Given the description of an element on the screen output the (x, y) to click on. 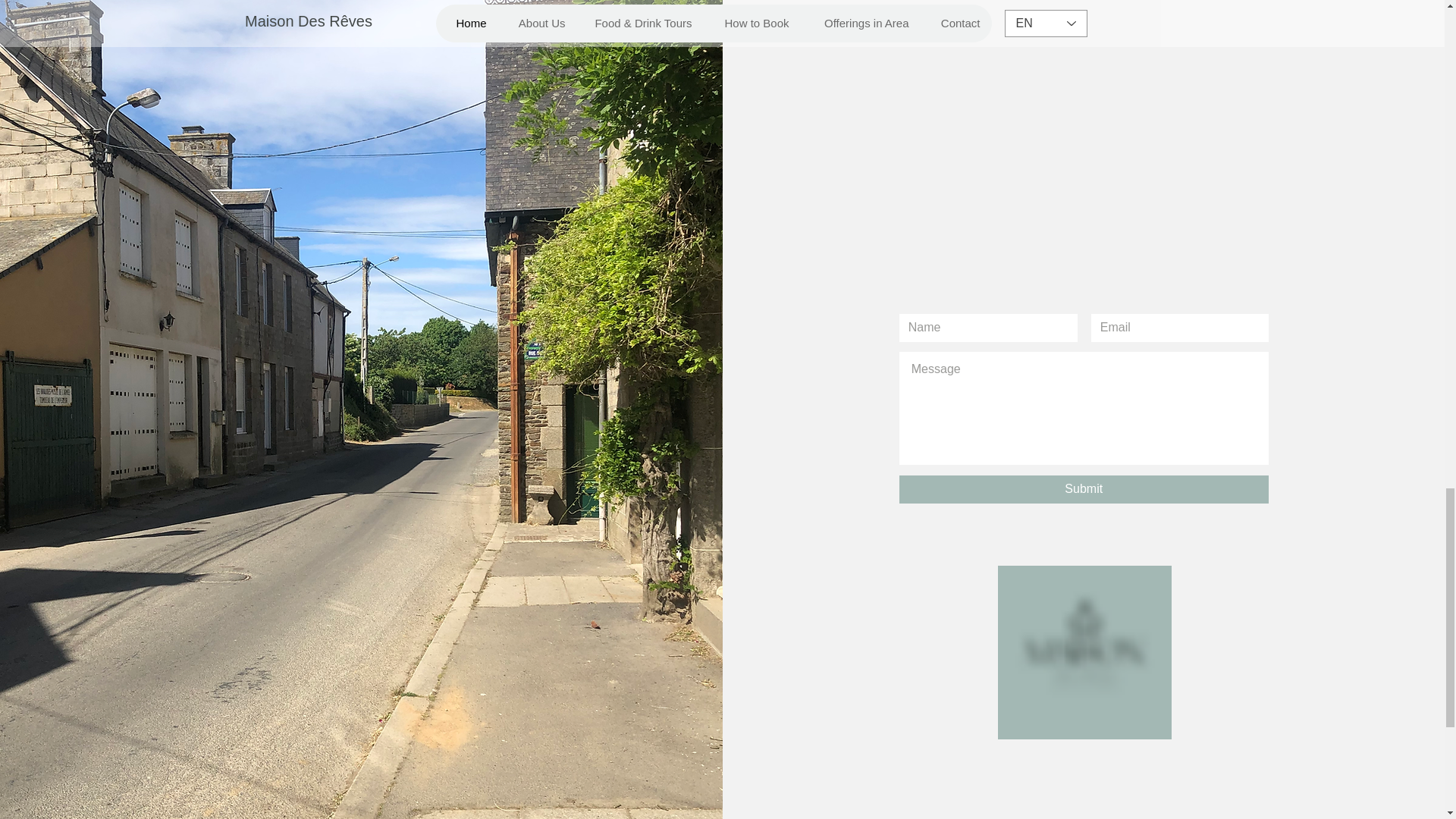
Submit (1083, 489)
Maison.png (1084, 652)
